Given the description of an element on the screen output the (x, y) to click on. 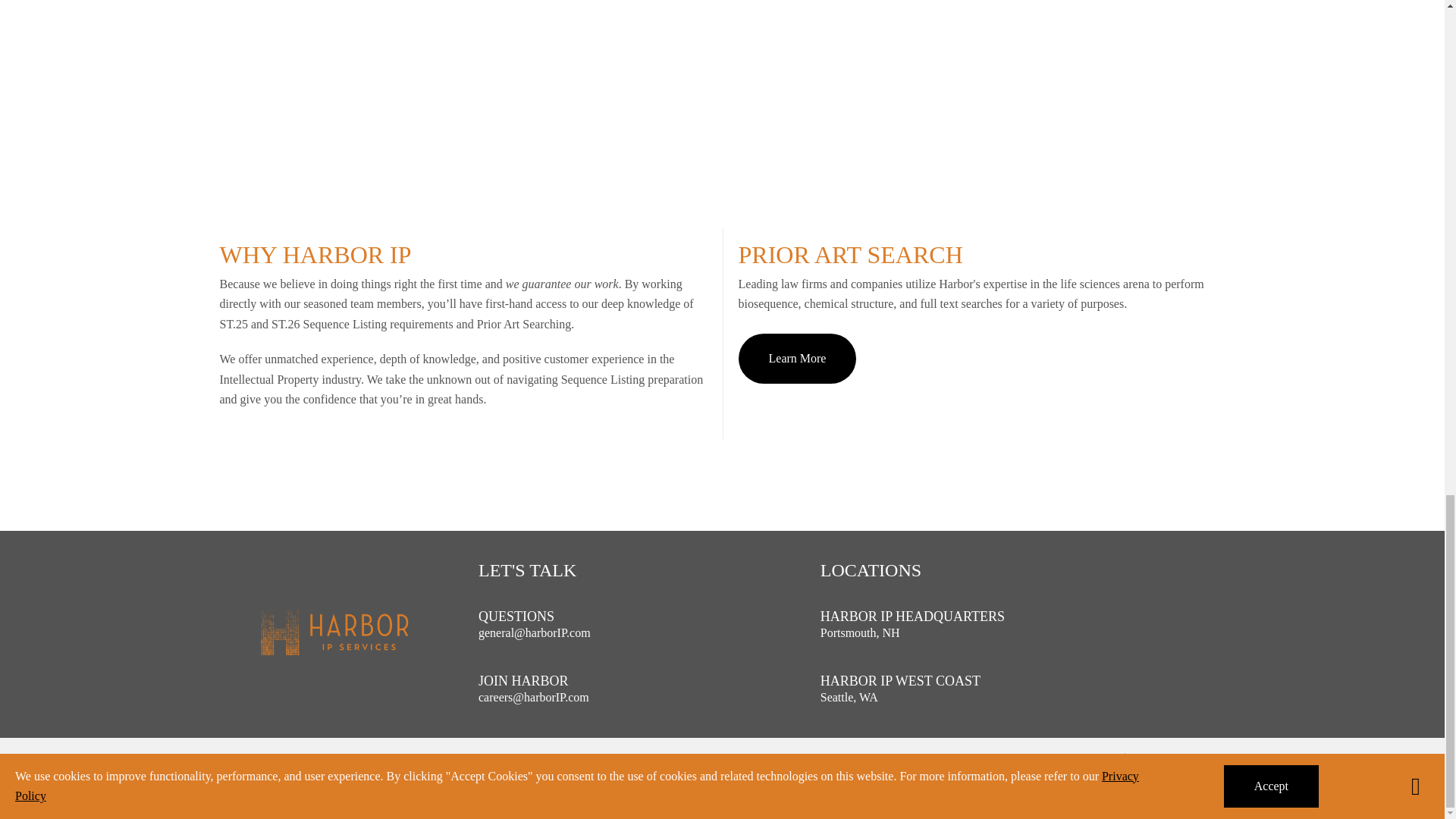
Why Harbor IP (463, 333)
Learn More (797, 358)
Prior Art Search (976, 333)
